Given the description of an element on the screen output the (x, y) to click on. 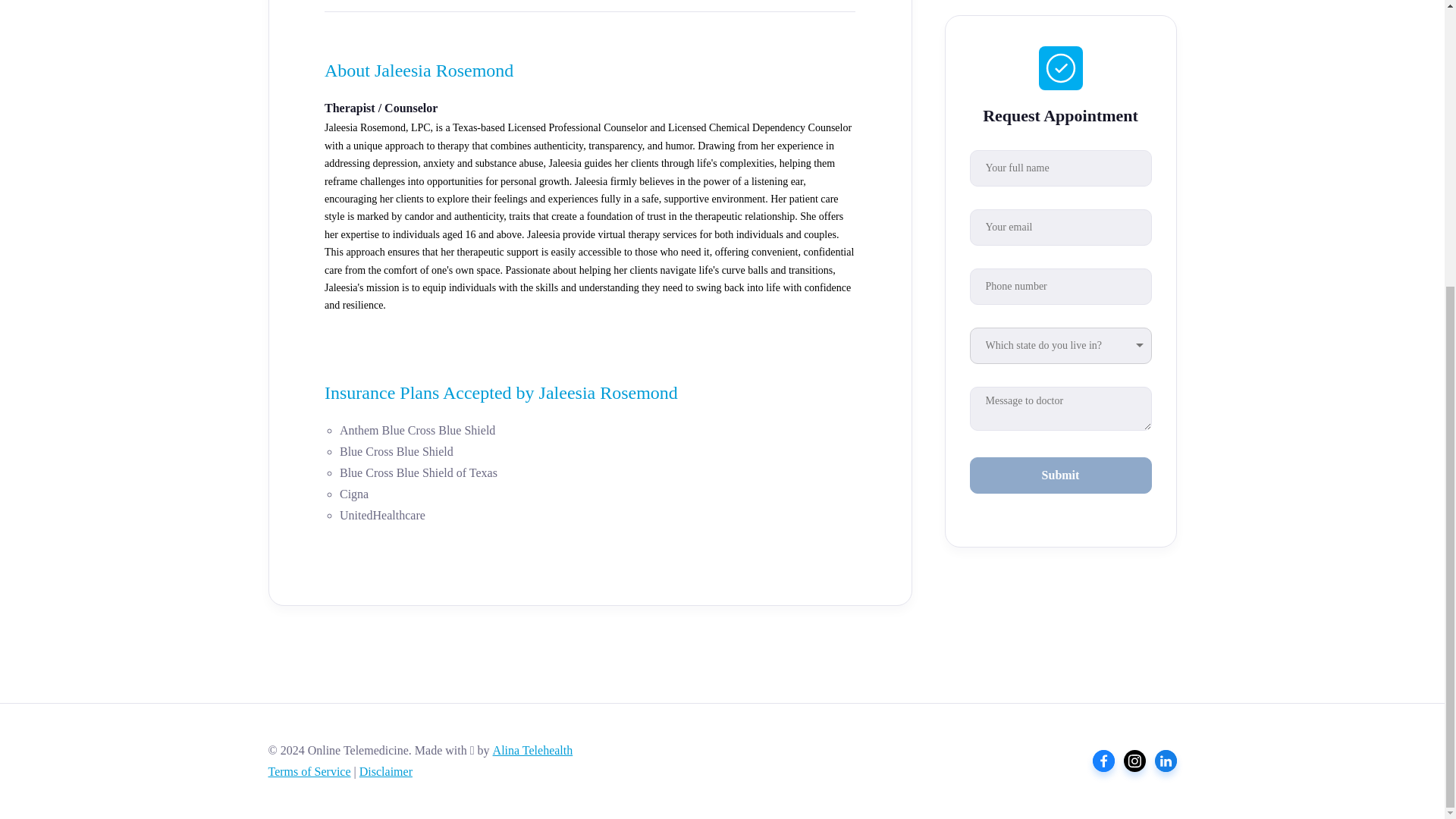
Alina Telehealth (533, 749)
Terms of Service (308, 771)
Disclaimer (385, 771)
Submit (1060, 135)
